Given the description of an element on the screen output the (x, y) to click on. 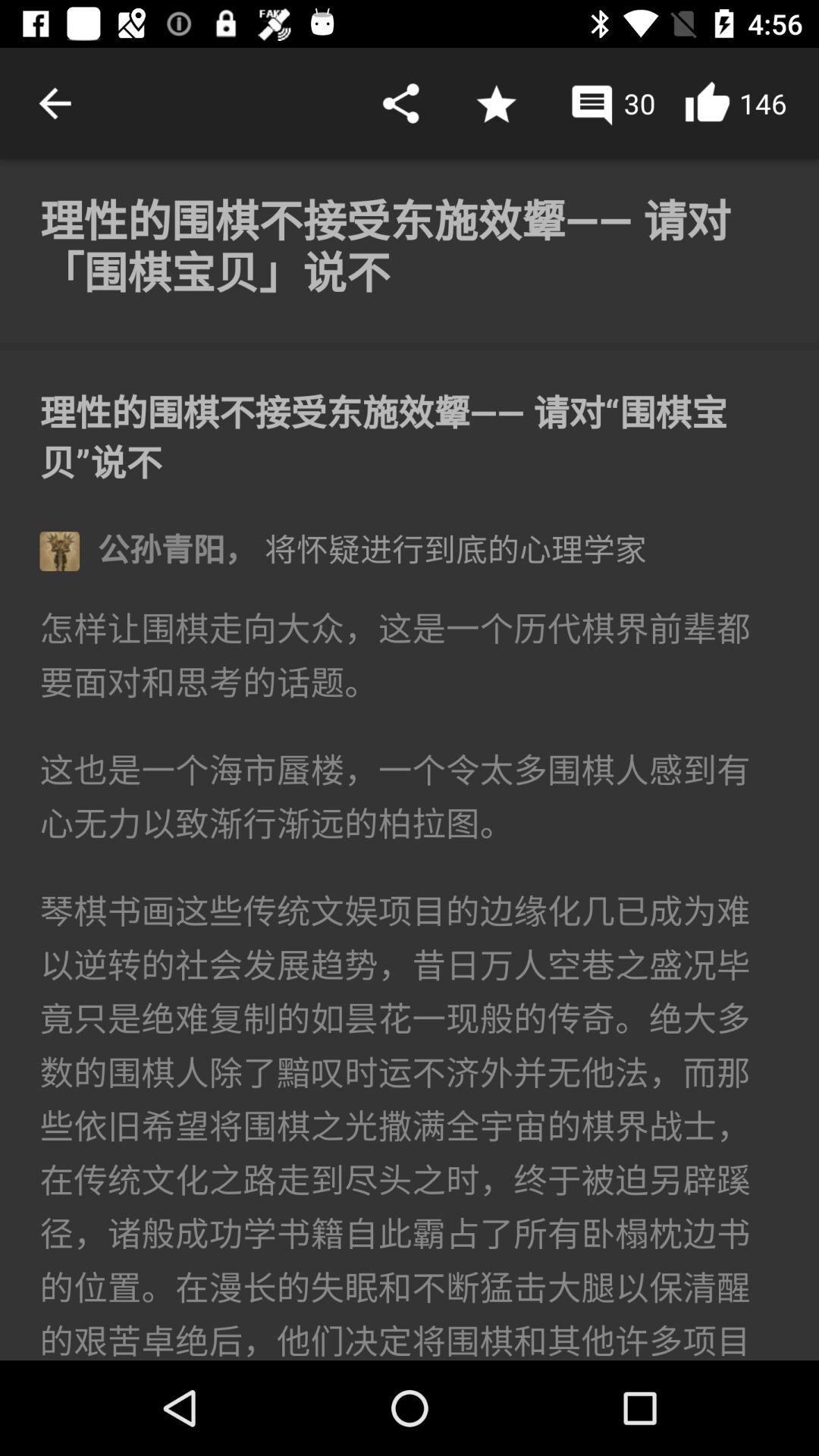
go to favorite (496, 103)
